Given the description of an element on the screen output the (x, y) to click on. 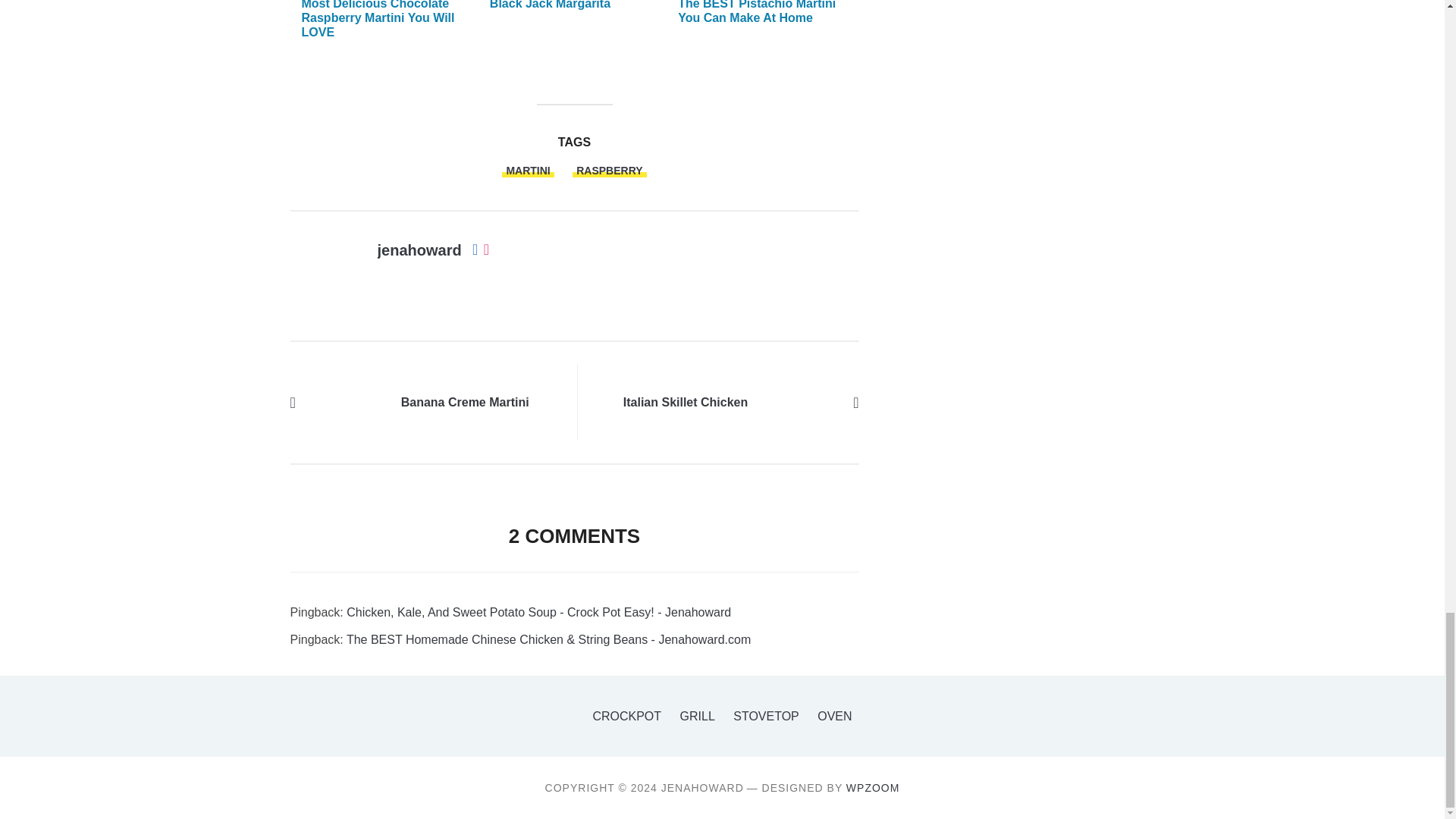
Italian Skillet Chicken (685, 402)
Italian Skillet Chicken (800, 401)
Banana Creme Martini (347, 401)
Banana Creme Martini (465, 402)
Posts by jenahoward (419, 249)
